Given the description of an element on the screen output the (x, y) to click on. 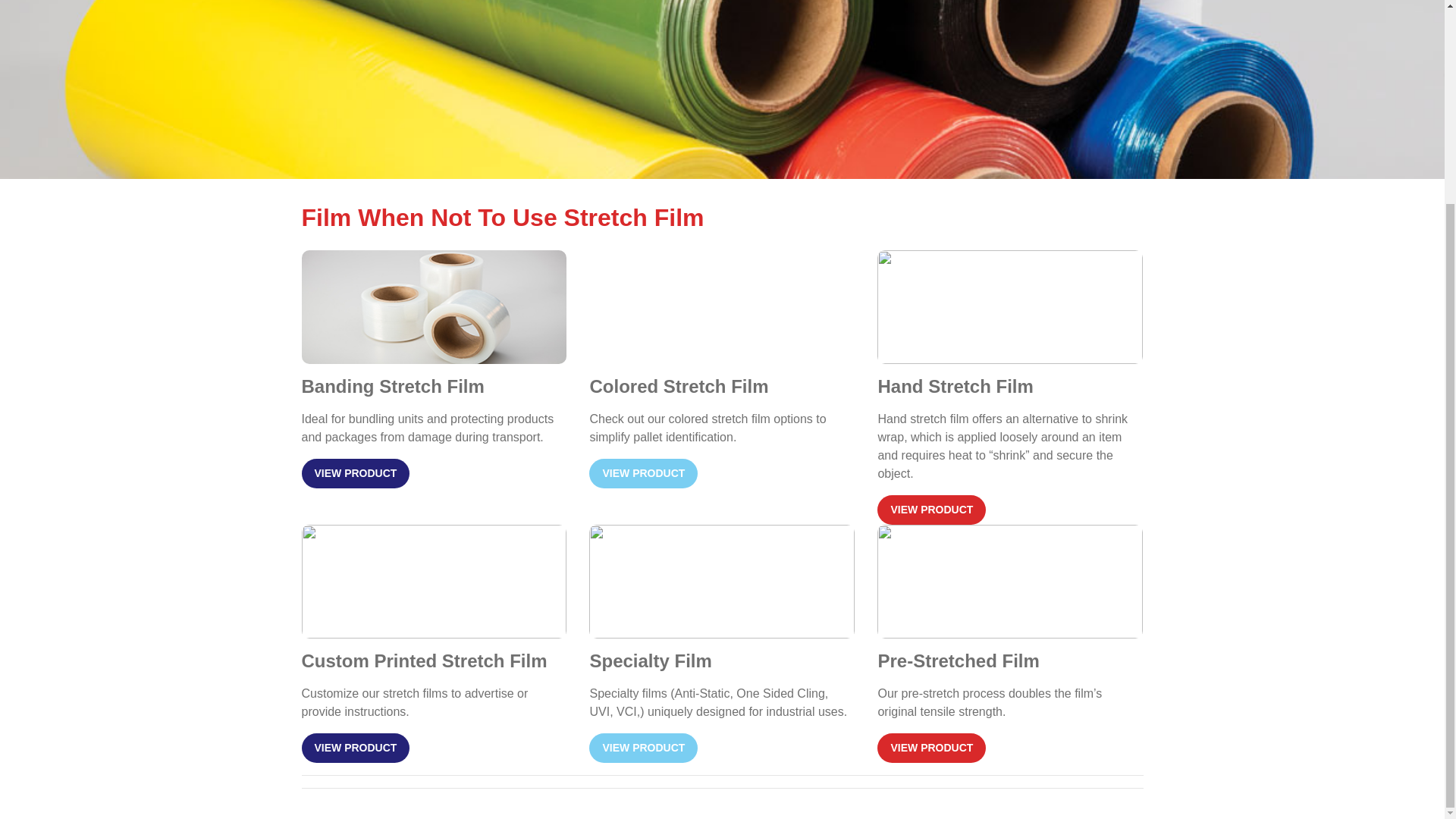
VIEW PRODUCT (643, 473)
VIEW PRODUCT (355, 473)
VIEW PRODUCT (643, 747)
VIEW PRODUCT (355, 747)
VIEW PRODUCT (931, 509)
VIEW PRODUCT (931, 747)
